Given the description of an element on the screen output the (x, y) to click on. 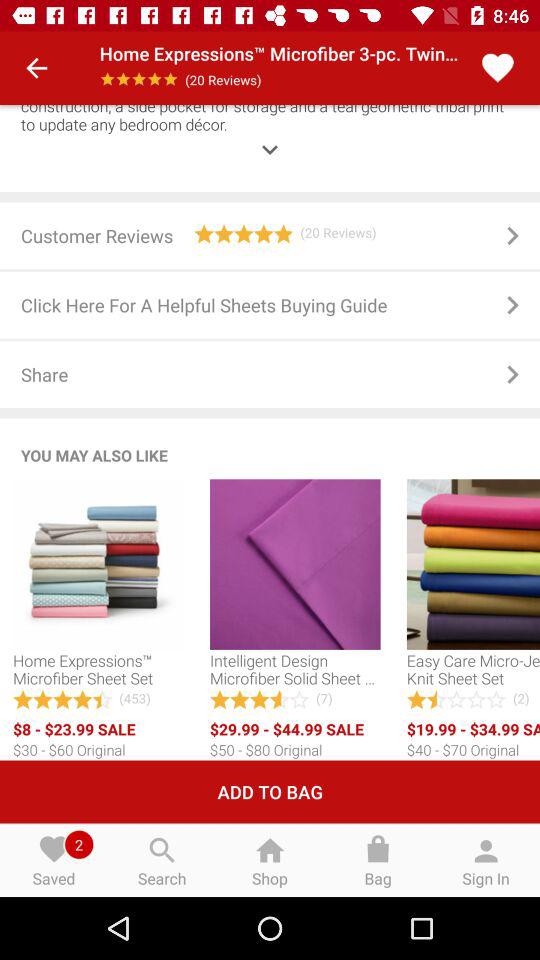
jump to the fall asleep in item (270, 135)
